Given the description of an element on the screen output the (x, y) to click on. 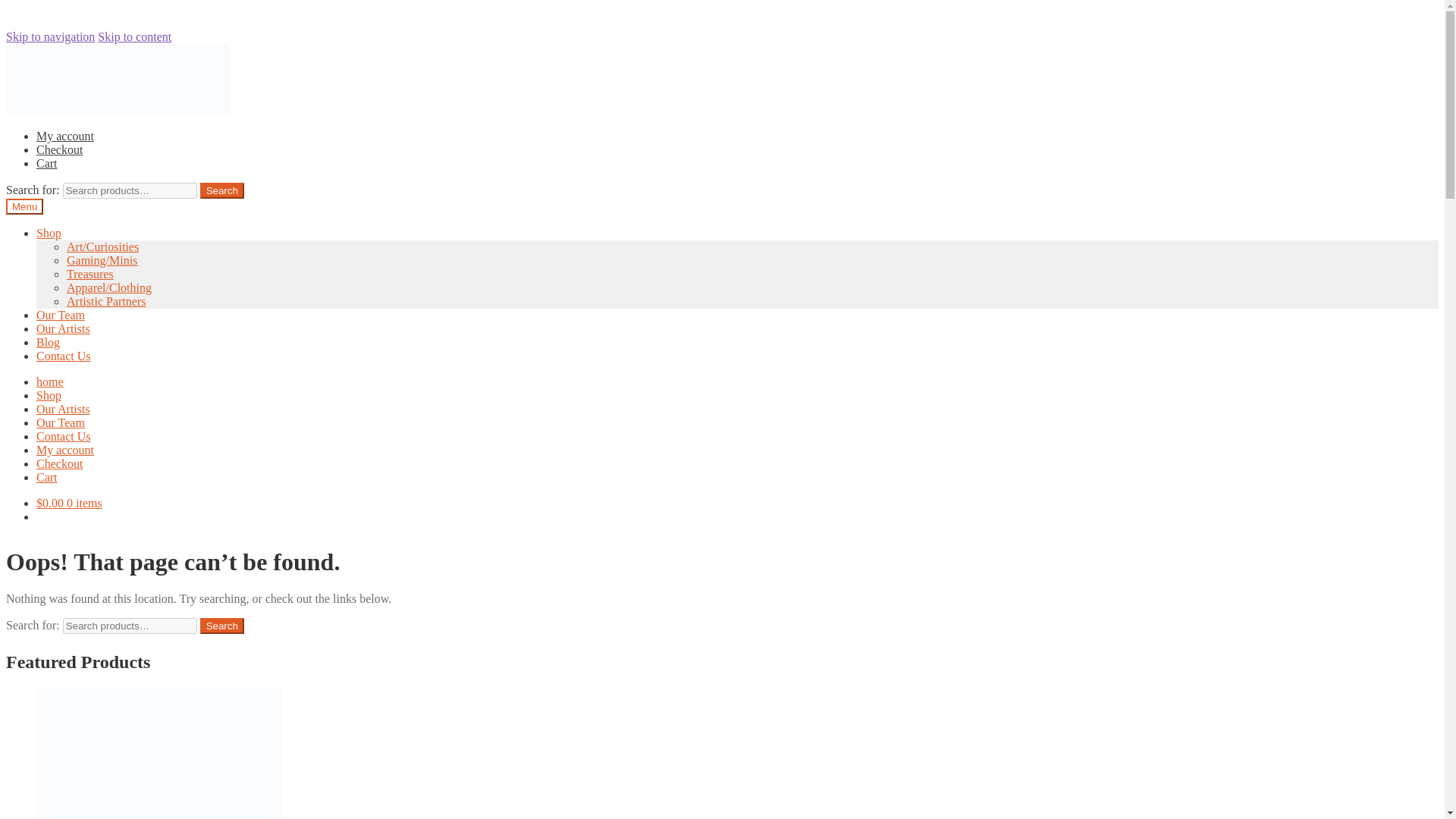
View your shopping cart (1037, 133)
Add to cart (411, 732)
C4Labs (818, 650)
Allie Briggs Art (837, 621)
Dog Might Games (846, 708)
Artistic Partners (821, 592)
Our Artists (493, 133)
Contact Us (624, 133)
Cart (895, 47)
Castings of Cthulhu (850, 679)
Checkout (844, 47)
Shop (341, 133)
Our Team (413, 133)
